Given the description of an element on the screen output the (x, y) to click on. 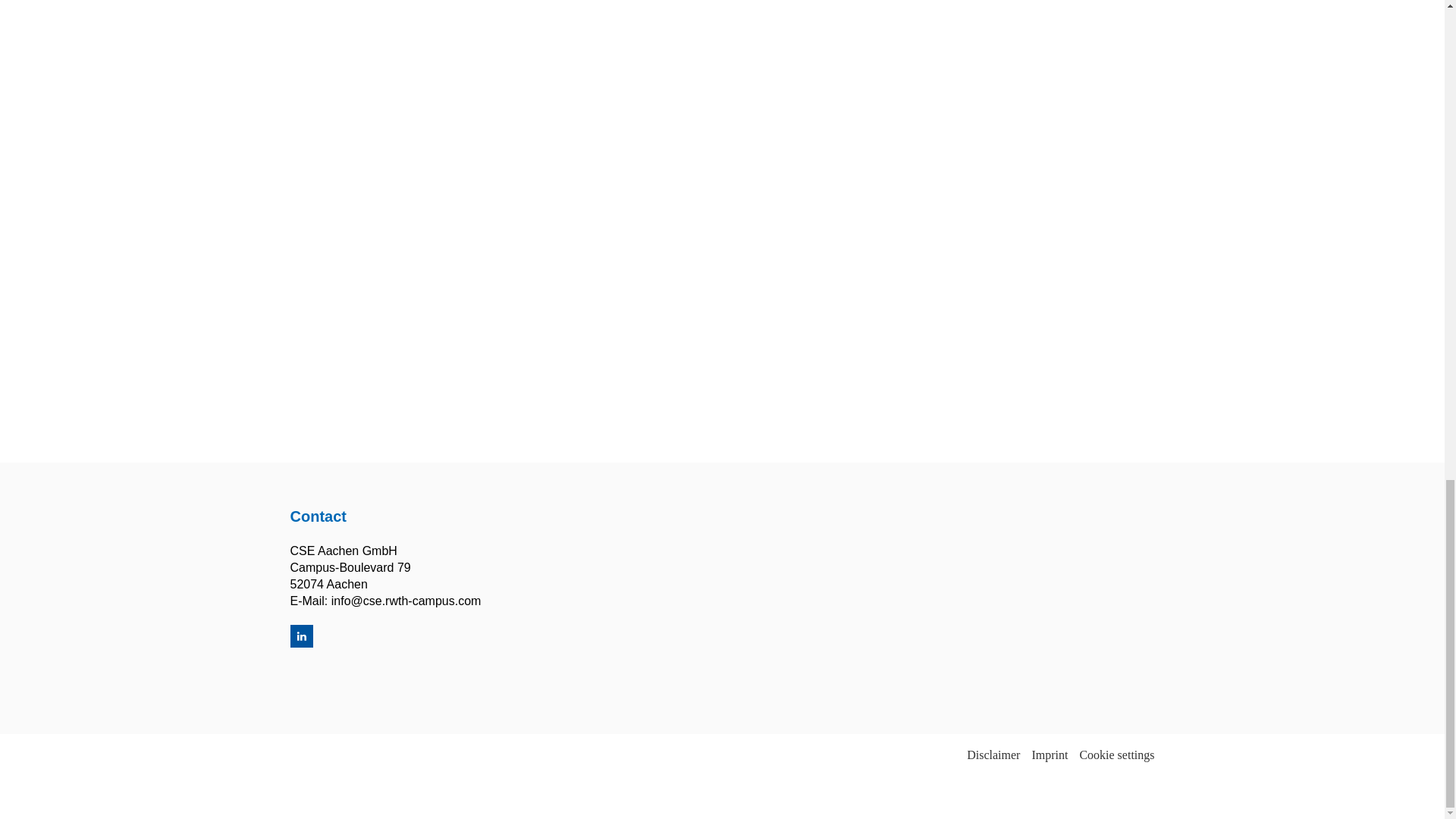
Disclaimer (993, 754)
LinkedIn (301, 635)
